Given the description of an element on the screen output the (x, y) to click on. 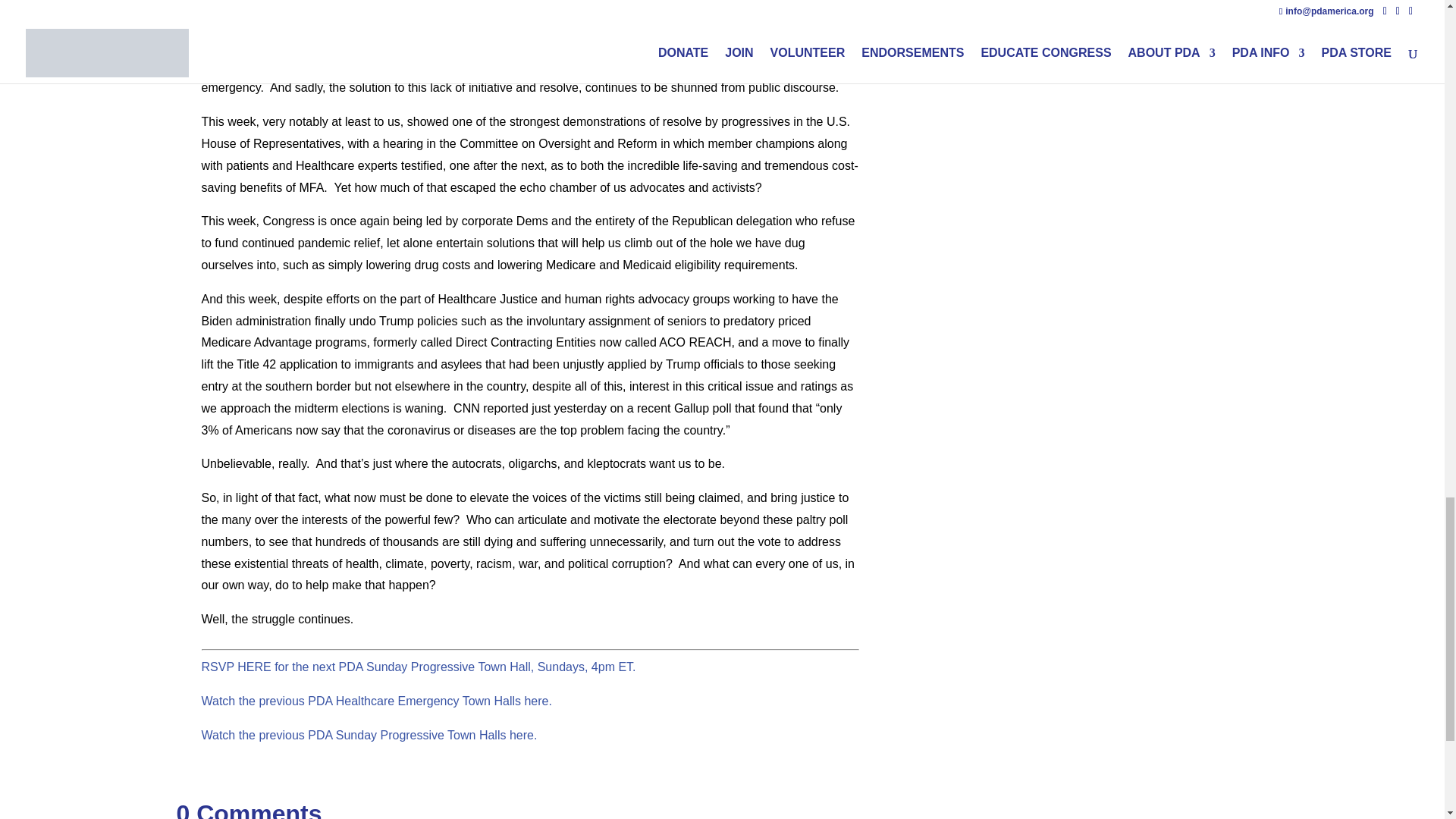
Watch the previous PDA Sunday Progressive Town Halls here. (369, 735)
Watch the previous PDA Healthcare Emergency Town Halls here. (376, 700)
